Given the description of an element on the screen output the (x, y) to click on. 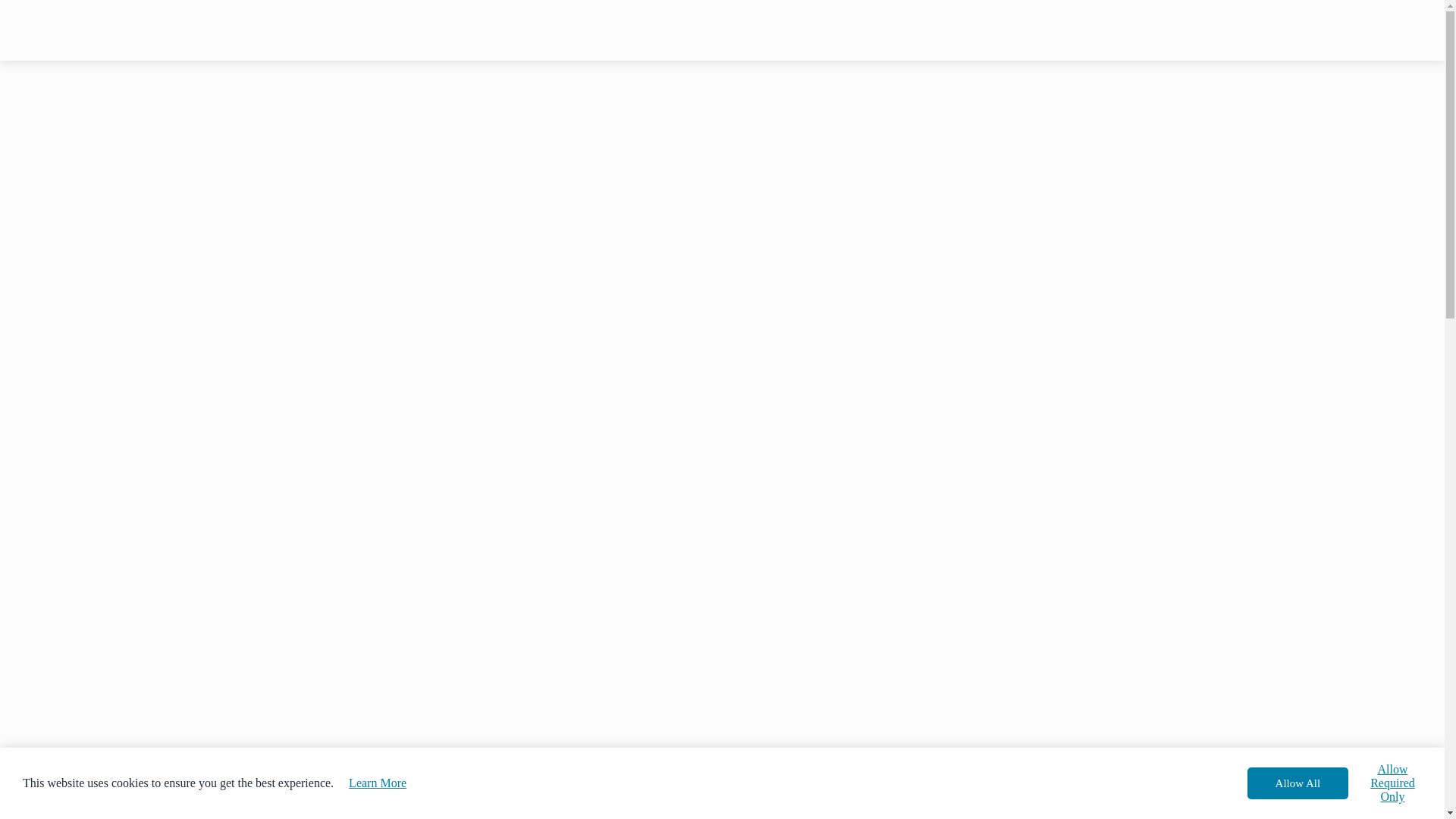
Allow Required Only (1392, 782)
Learn More (377, 783)
Allow All (1297, 783)
